Given the description of an element on the screen output the (x, y) to click on. 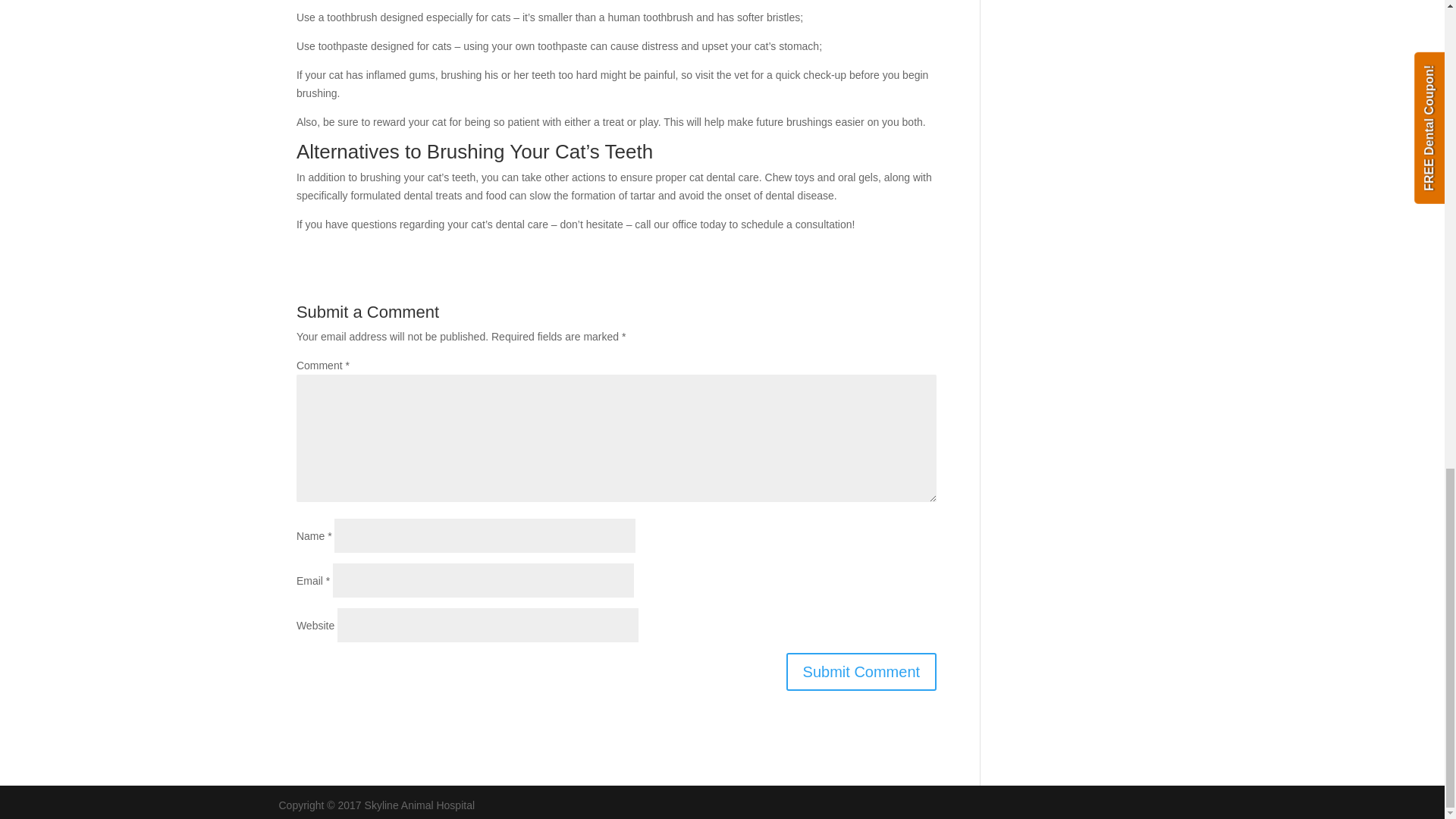
Submit Comment (861, 671)
